Given the description of an element on the screen output the (x, y) to click on. 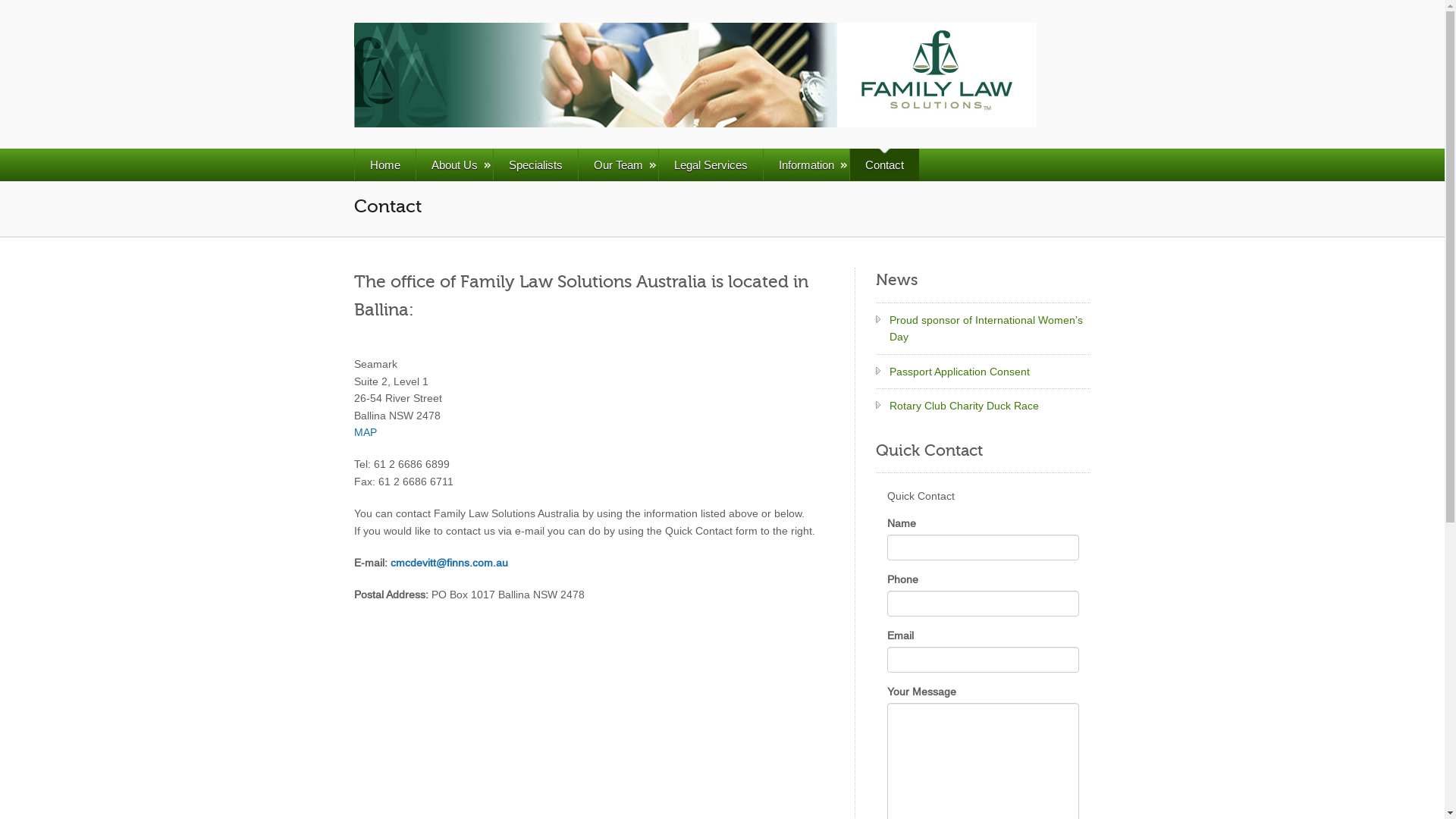
About Us Element type: text (453, 164)
Legal Services Element type: text (710, 164)
Rotary Club Charity Duck Race Element type: text (963, 405)
MAP Element type: text (365, 432)
Contact Element type: text (884, 164)
Home Element type: text (384, 164)
Our Team Element type: text (617, 164)
cmcdevitt@finns.com.au Element type: text (449, 562)
Specialists Element type: text (534, 164)
Passport Application Consent Element type: text (959, 371)
Information Element type: text (805, 164)
